Given the description of an element on the screen output the (x, y) to click on. 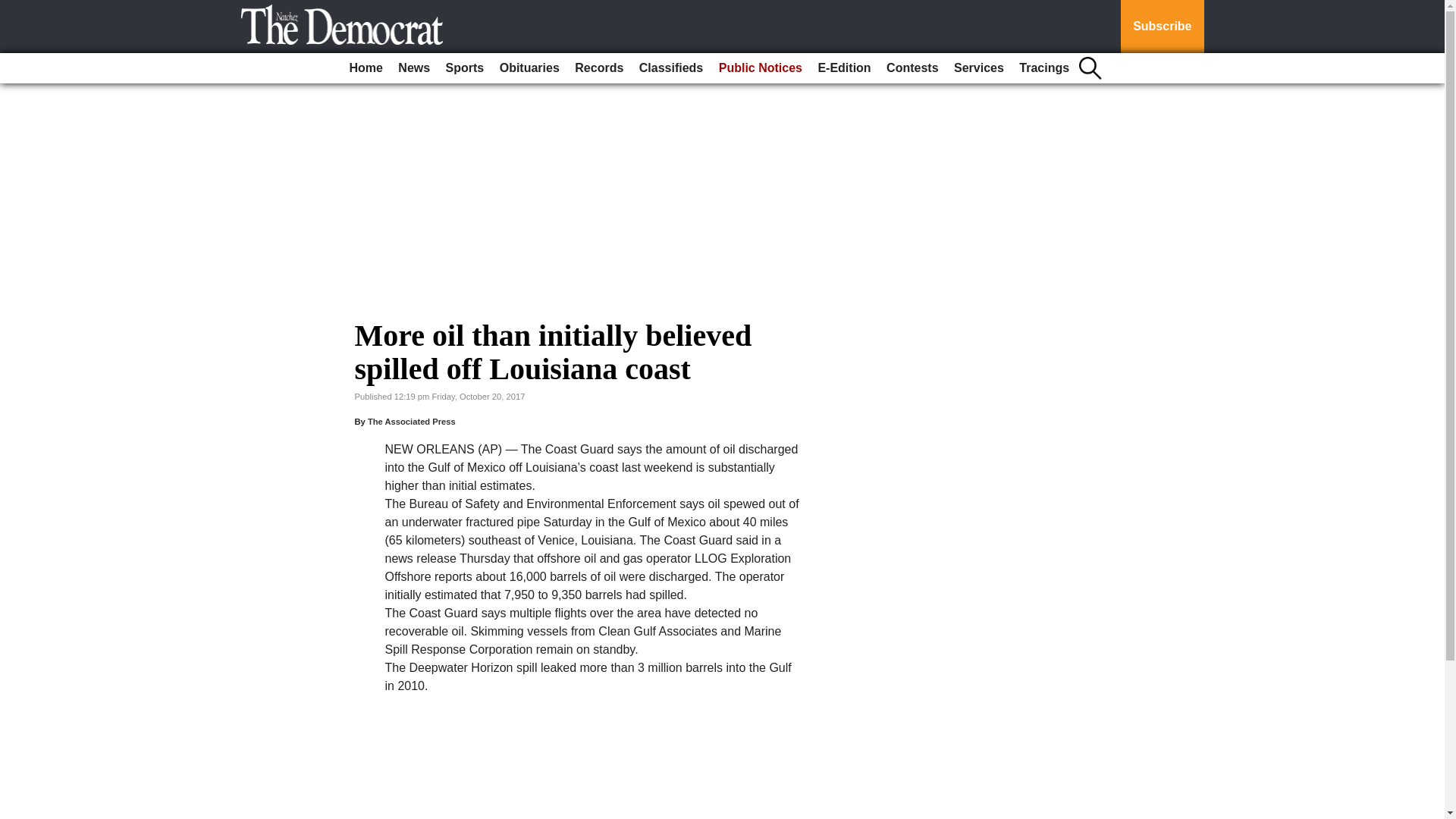
Records (598, 68)
Contests (911, 68)
Home (365, 68)
News (413, 68)
Public Notices (760, 68)
Obituaries (529, 68)
Tracings (1044, 68)
E-Edition (843, 68)
Go (13, 9)
Services (978, 68)
Subscribe (1162, 26)
Sports (464, 68)
The Associated Press (411, 420)
Classifieds (671, 68)
